Given the description of an element on the screen output the (x, y) to click on. 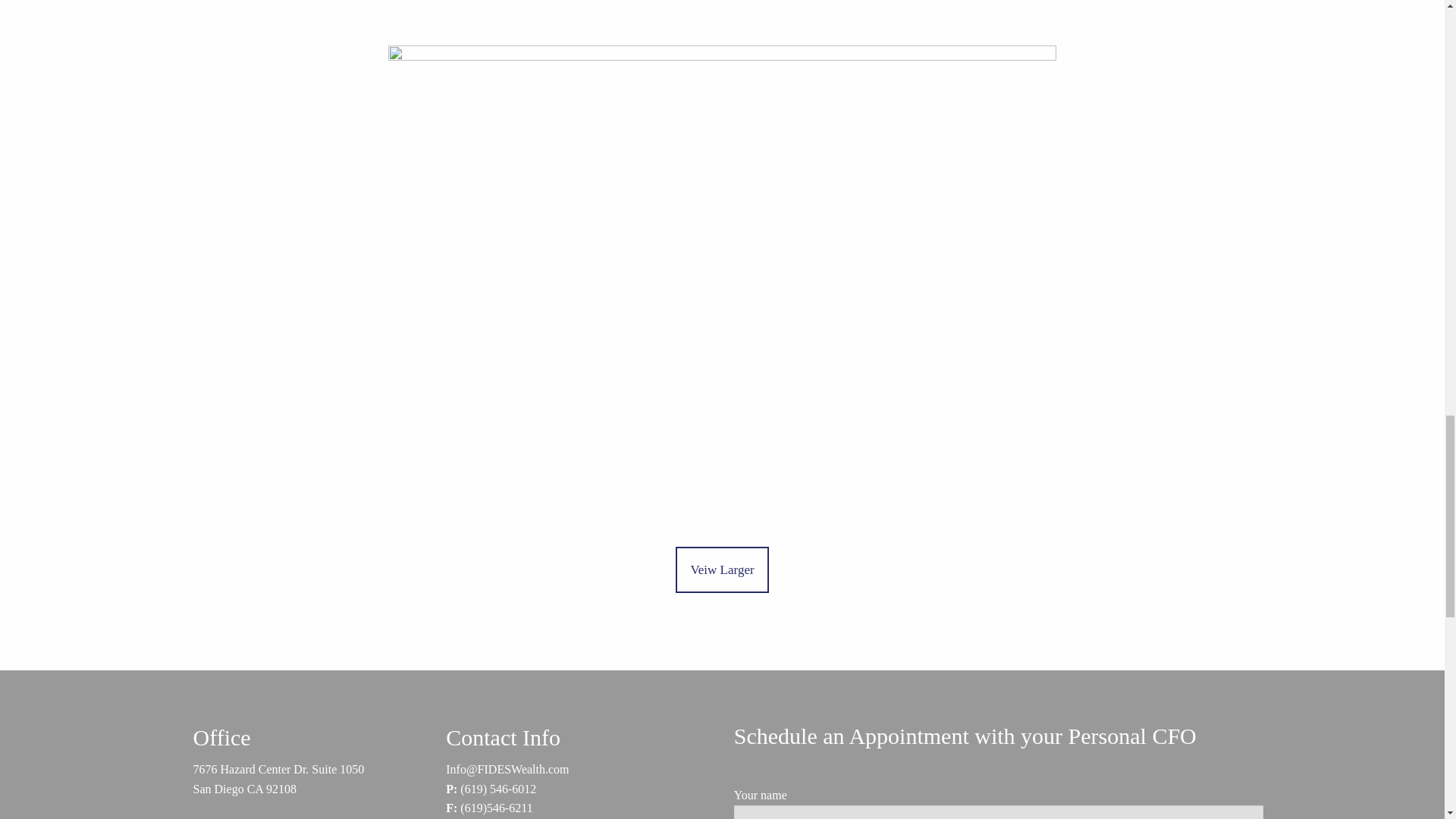
Veiw Larger (721, 569)
